Given the description of an element on the screen output the (x, y) to click on. 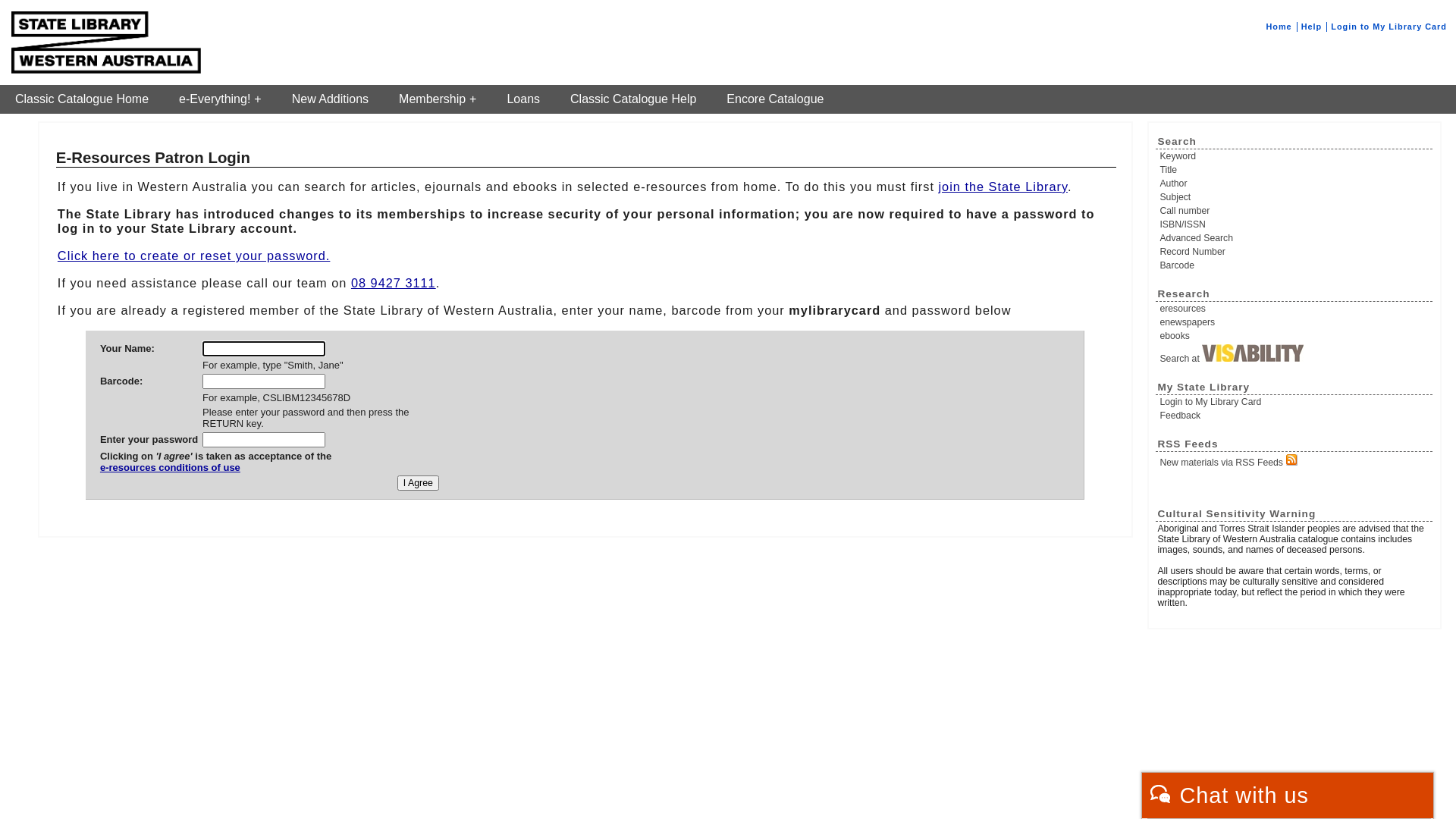
Search at Element type: text (1294, 354)
Barcode Element type: text (1294, 265)
Home Element type: text (1278, 26)
I Agree Element type: text (418, 482)
Classic Catalogue Home Element type: text (81, 98)
Membership Element type: text (437, 98)
Classic Catalogue Help Element type: text (633, 98)
Call number Element type: text (1294, 210)
Help Element type: text (1311, 26)
Click here to create or reset your password. Element type: text (193, 255)
Loans Element type: text (523, 98)
Encore Catalogue Element type: text (774, 98)
Record Number Element type: text (1294, 251)
Login to My Library Card Element type: text (1388, 26)
Keyword Element type: text (1294, 155)
ISBN/ISSN Element type: text (1294, 224)
eresources Element type: text (1294, 308)
08 9427 3111 Element type: text (393, 282)
Chat with us Element type: text (1287, 795)
Title Element type: text (1294, 169)
enewspapers Element type: text (1294, 321)
Subject Element type: text (1294, 196)
Advanced Search Element type: text (1294, 237)
Author Element type: text (1294, 183)
Feedback Element type: text (1294, 415)
New materials via RSS Feeds Element type: text (1294, 460)
e-Everything! Element type: text (219, 98)
ebooks Element type: text (1294, 335)
e-resources conditions of use Element type: text (215, 472)
New Additions Element type: text (329, 98)
Login to My Library Card Element type: text (1294, 401)
join the State Library Element type: text (1002, 186)
